Given the description of an element on the screen output the (x, y) to click on. 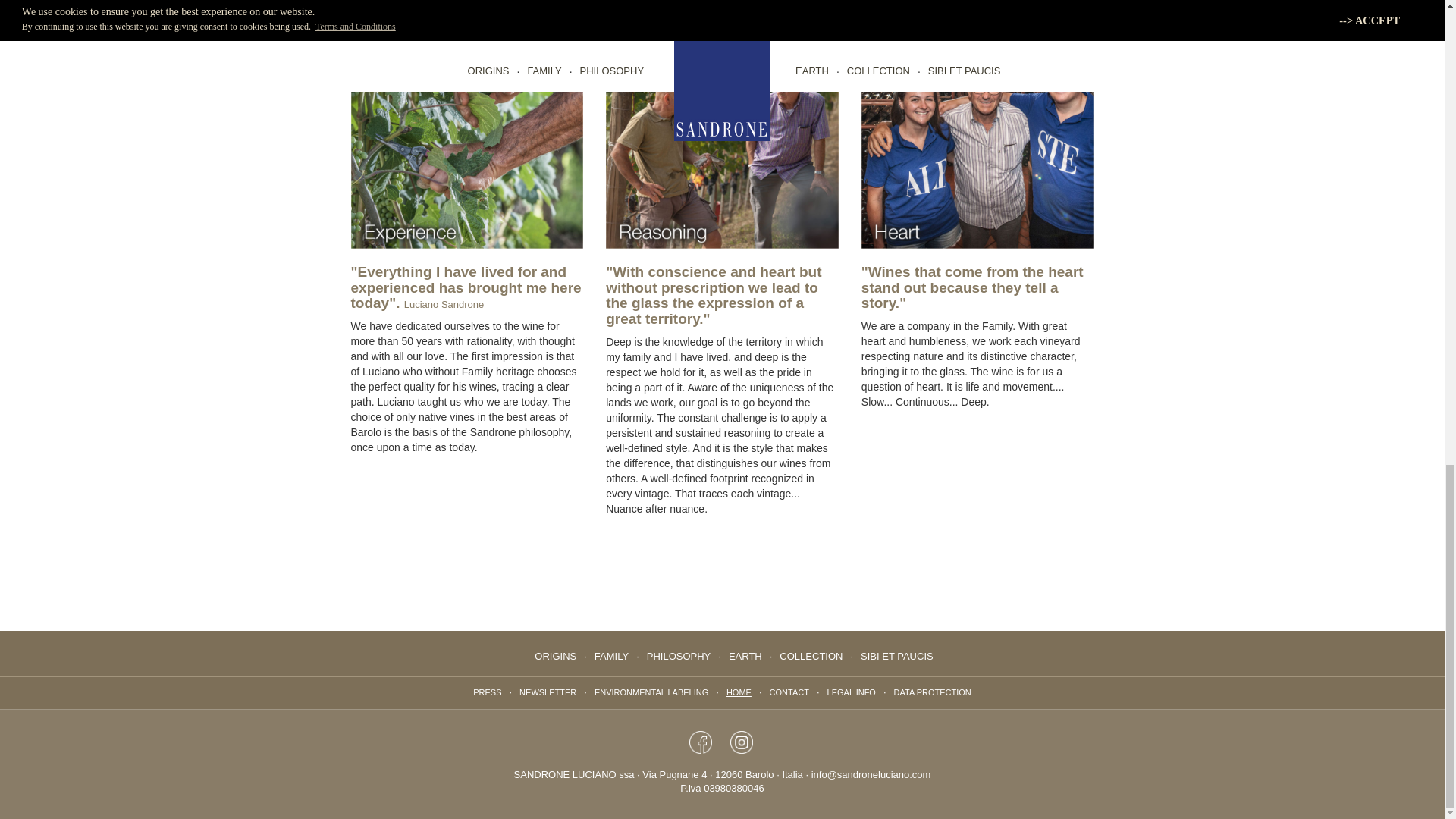
ENVIRONMENTAL LABELING (651, 692)
FAMILY (611, 656)
COLLECTION (810, 656)
HOME (738, 692)
SIBI ET PAUCIS (896, 656)
CONTACT (788, 692)
PHILOSOPHY (679, 656)
ORIGINS (555, 656)
LEGAL INFO (851, 692)
NEWSLETTER (547, 692)
